Given the description of an element on the screen output the (x, y) to click on. 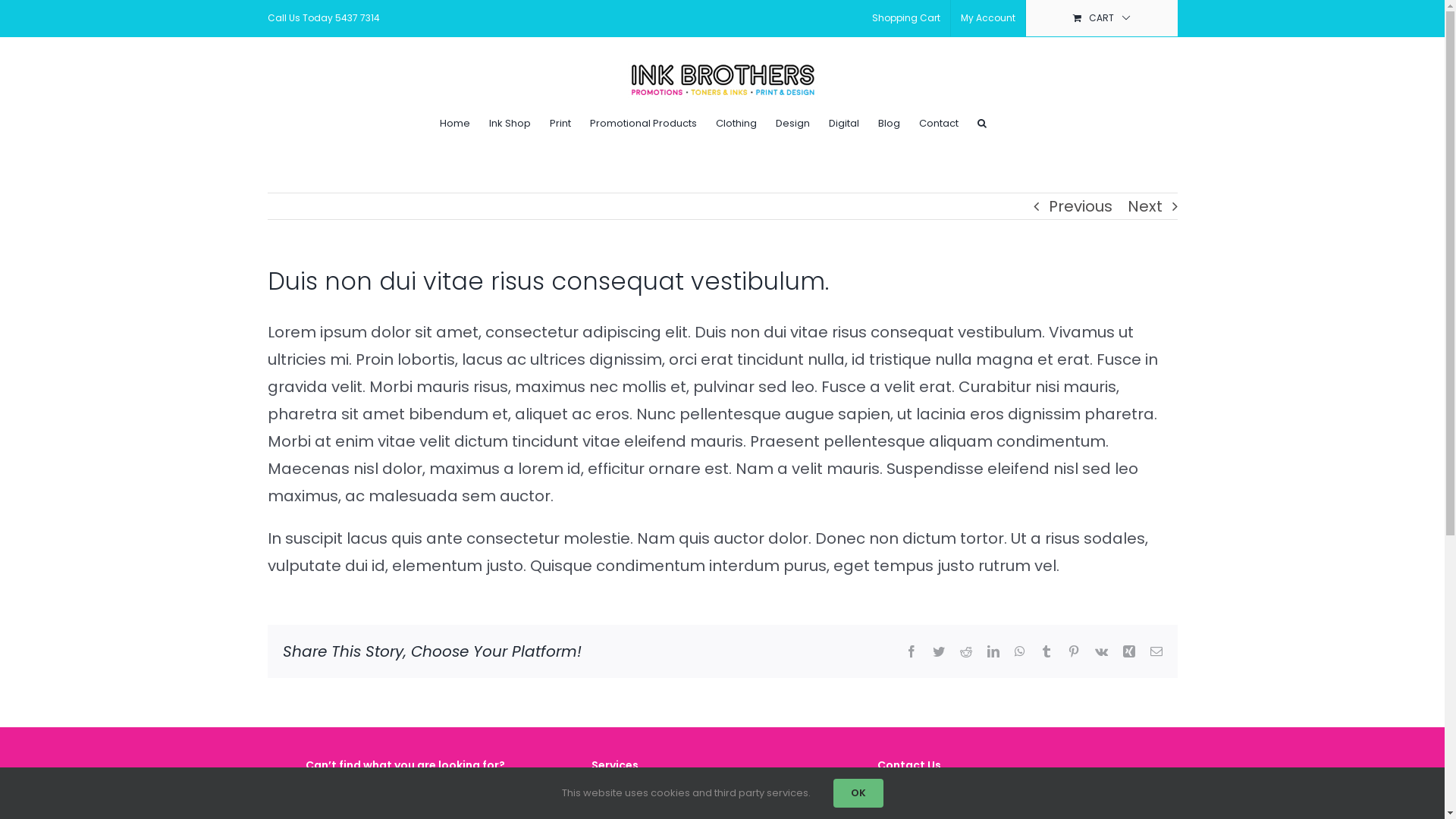
Xing Element type: text (1128, 651)
Reddit Element type: text (966, 651)
Promotional Products Element type: text (642, 123)
Shopping Cart Element type: text (905, 18)
Ink Shop Element type: text (509, 123)
Vk Element type: text (1101, 651)
Facebook Element type: text (911, 651)
Twitter Element type: text (938, 651)
Print Element type: text (559, 123)
Log In Element type: text (1055, 179)
Blog Element type: text (889, 123)
CART Element type: text (1100, 18)
Pinterest Element type: text (1073, 651)
Tumblr Element type: text (1046, 651)
My Account Element type: text (987, 18)
Contact Element type: text (938, 123)
Home Element type: text (454, 123)
LinkedIn Element type: text (993, 651)
Digital Element type: text (843, 123)
Design Element type: text (792, 123)
Search Element type: hover (980, 123)
WhatsApp Element type: text (1019, 651)
Clothing Element type: text (735, 123)
OK Element type: text (857, 792)
Next Element type: text (1143, 206)
Previous Element type: text (1079, 206)
Email Element type: text (1155, 651)
